Given the description of an element on the screen output the (x, y) to click on. 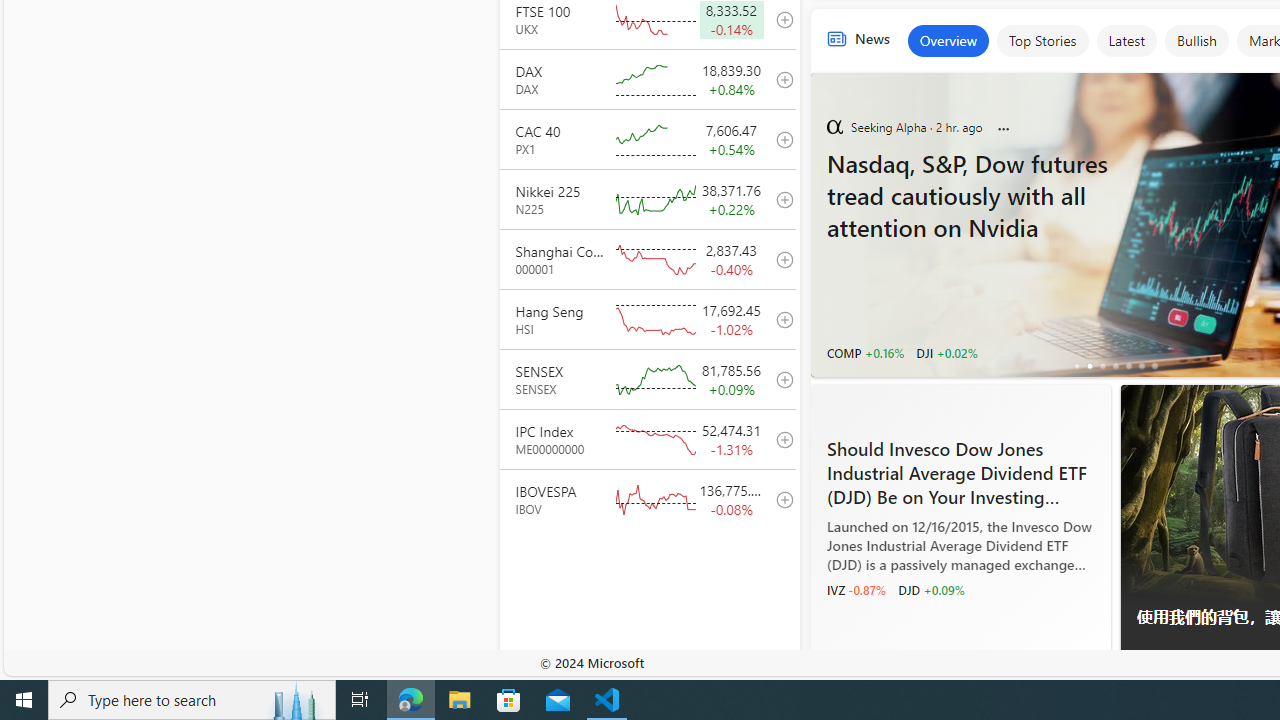
COMP +0.16% (864, 352)
Latest (1126, 40)
Top Stories (1041, 40)
IVZ -0.87% (855, 589)
Zacks.com (834, 664)
DJD +0.09% (931, 589)
